Given the description of an element on the screen output the (x, y) to click on. 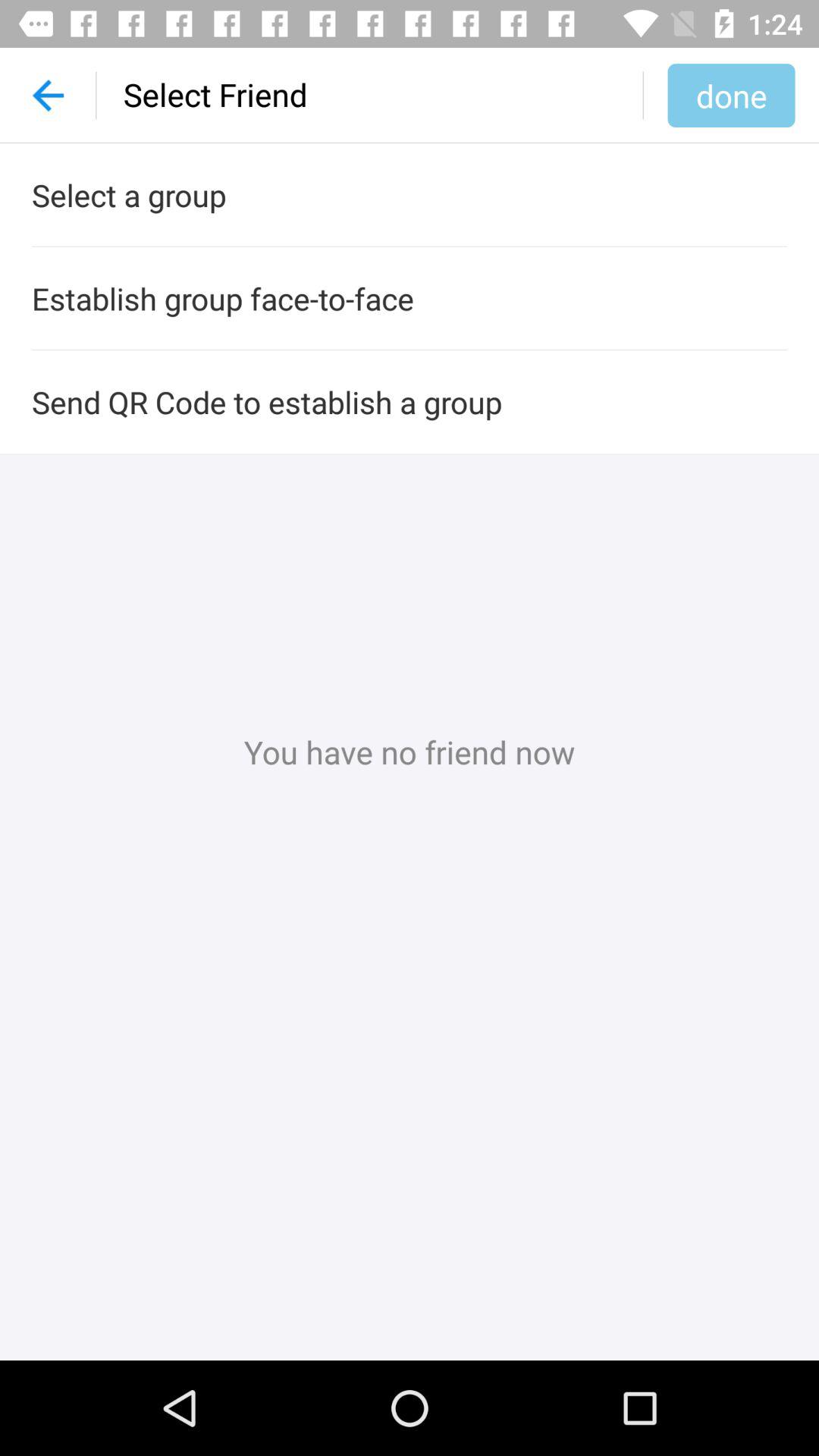
open item above select a group item (731, 95)
